Given the description of an element on the screen output the (x, y) to click on. 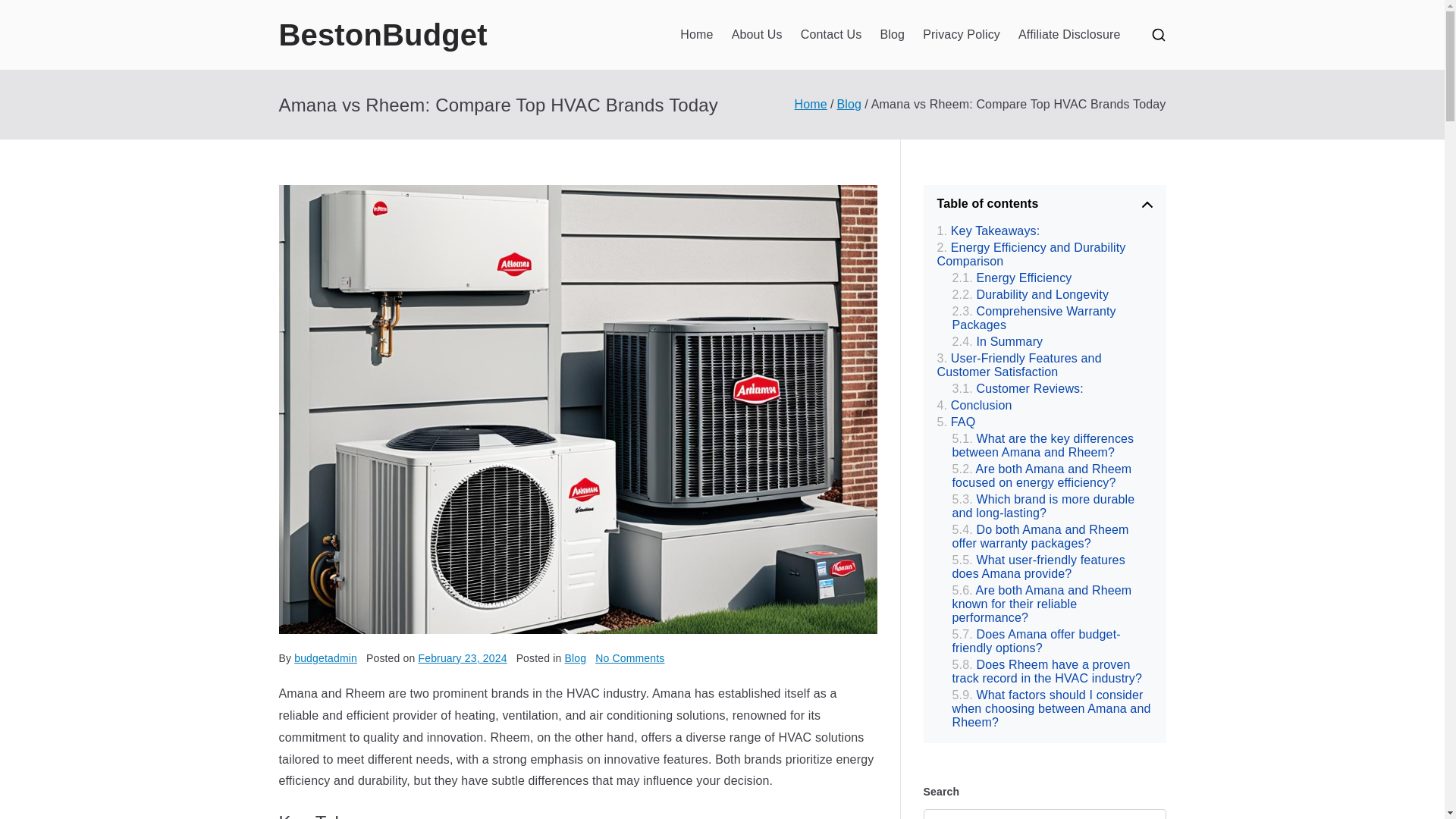
Blog (849, 103)
Search (26, 12)
About Us (757, 34)
Durability and Longevity (1030, 294)
Customer Reviews: (1017, 388)
Energy Efficiency (1011, 278)
Durability and Longevity (1030, 294)
Conclusion (974, 405)
Blog (891, 34)
Key Takeaways: (989, 230)
Comprehensive Warranty Packages (1052, 318)
Contact Us (629, 657)
Home (830, 34)
Comprehensive Warranty Packages (696, 34)
